Given the description of an element on the screen output the (x, y) to click on. 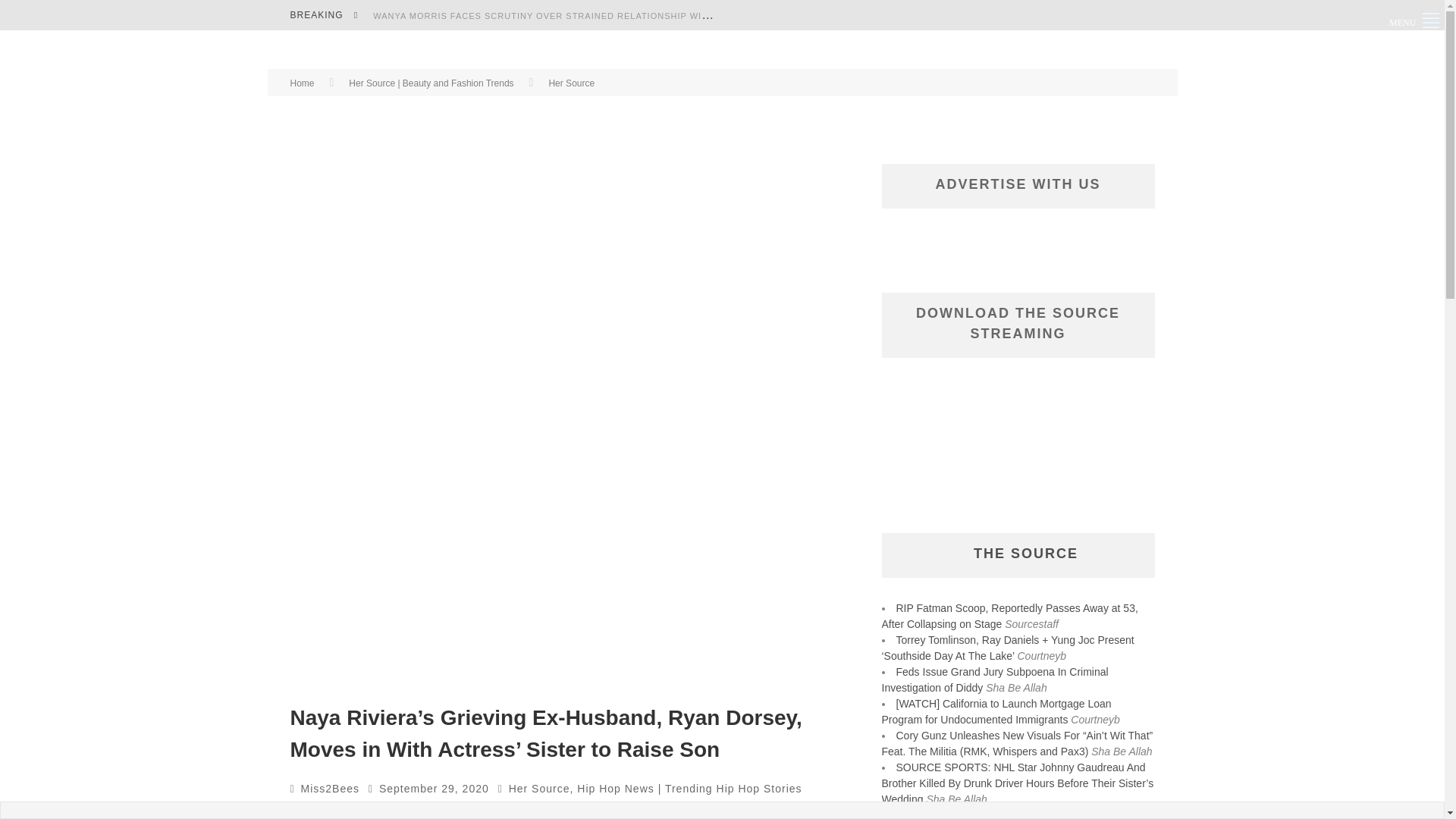
Miss2Bees (330, 788)
Home (301, 82)
View all posts in Her Source (571, 82)
Her Source (571, 82)
View all posts in Her Source (539, 788)
Her Source (539, 788)
